Given the description of an element on the screen output the (x, y) to click on. 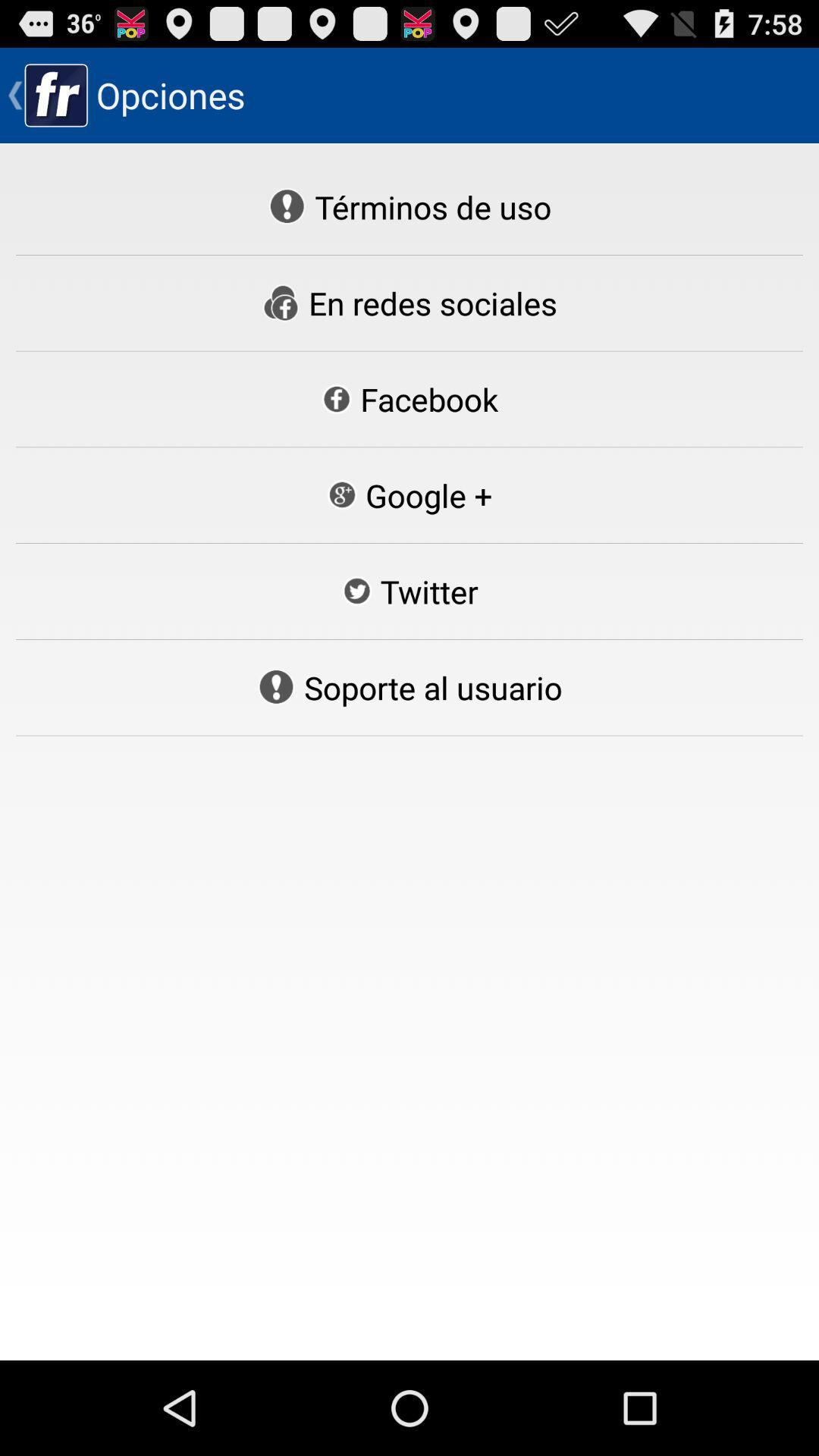
click the facebook icon (409, 399)
